Given the description of an element on the screen output the (x, y) to click on. 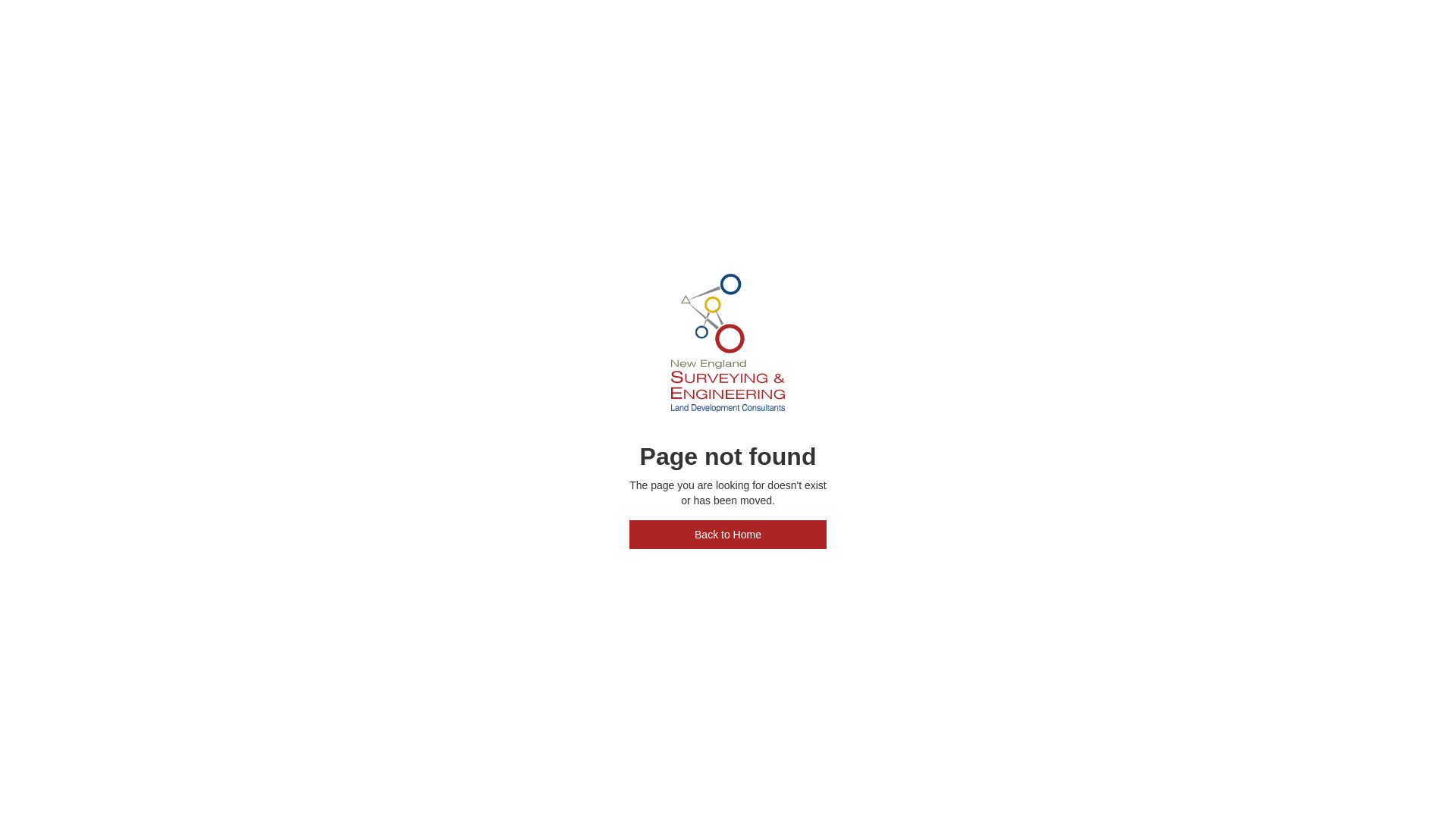
Back to Home Element type: text (727, 534)
